Given the description of an element on the screen output the (x, y) to click on. 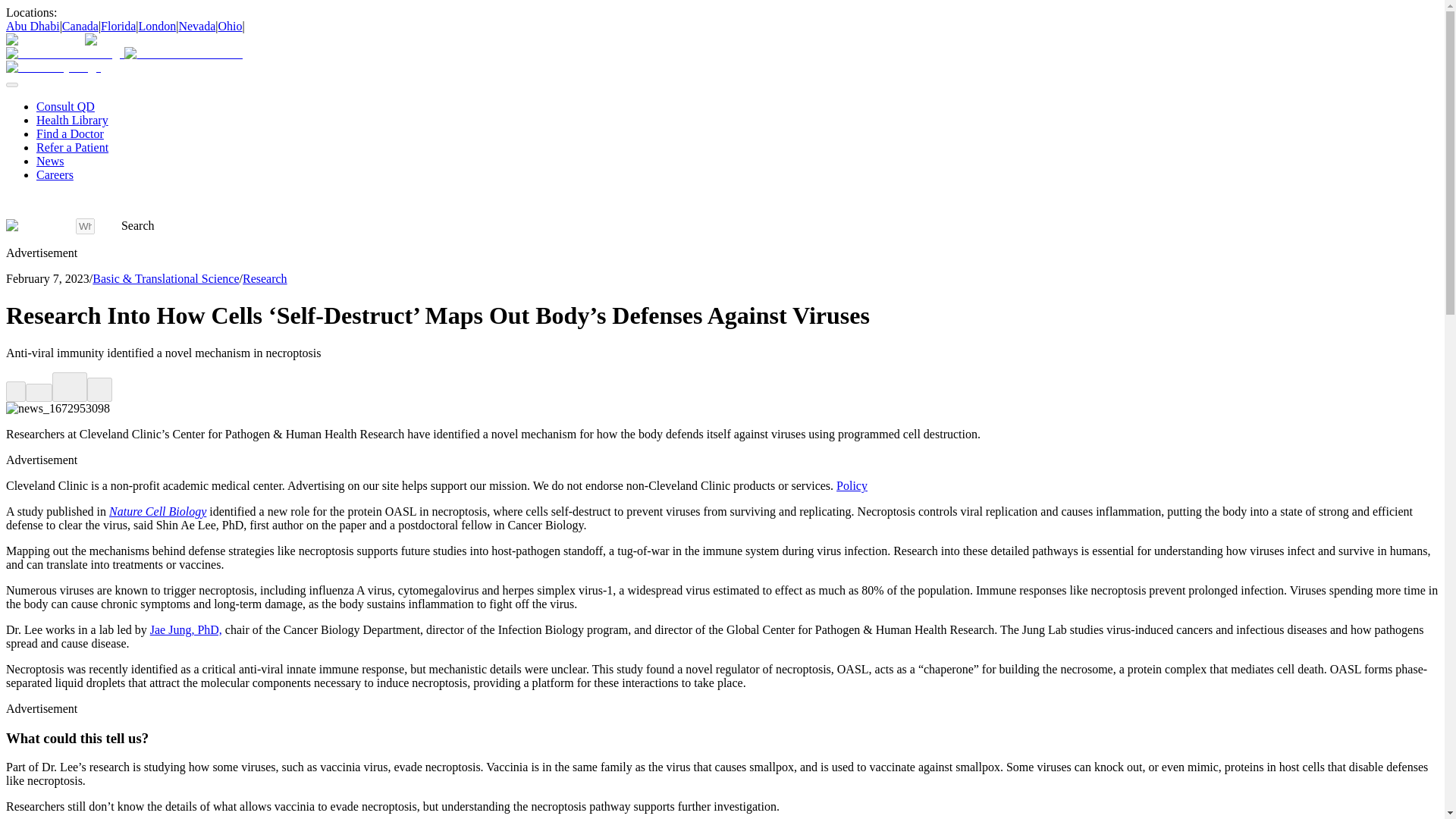
News (50, 160)
London (157, 25)
Nature Cell Biology (157, 511)
Ohio (230, 25)
Careers (55, 174)
Jae Jung, PhD, (185, 629)
Abu Dhabi (32, 25)
Florida (117, 25)
Refer a Patient (71, 146)
Canada (80, 25)
